Given the description of an element on the screen output the (x, y) to click on. 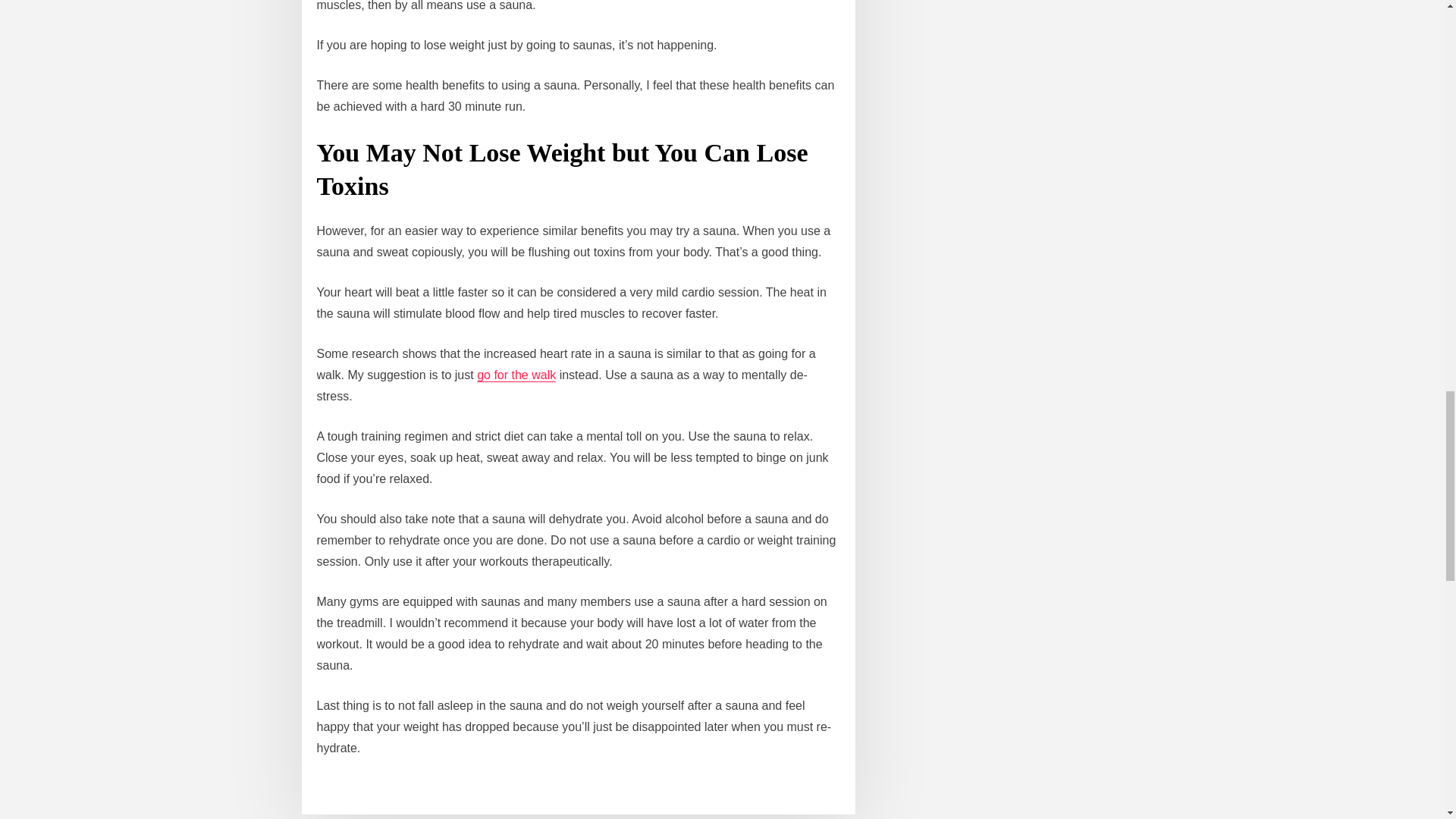
go for the walk (516, 374)
